Given the description of an element on the screen output the (x, y) to click on. 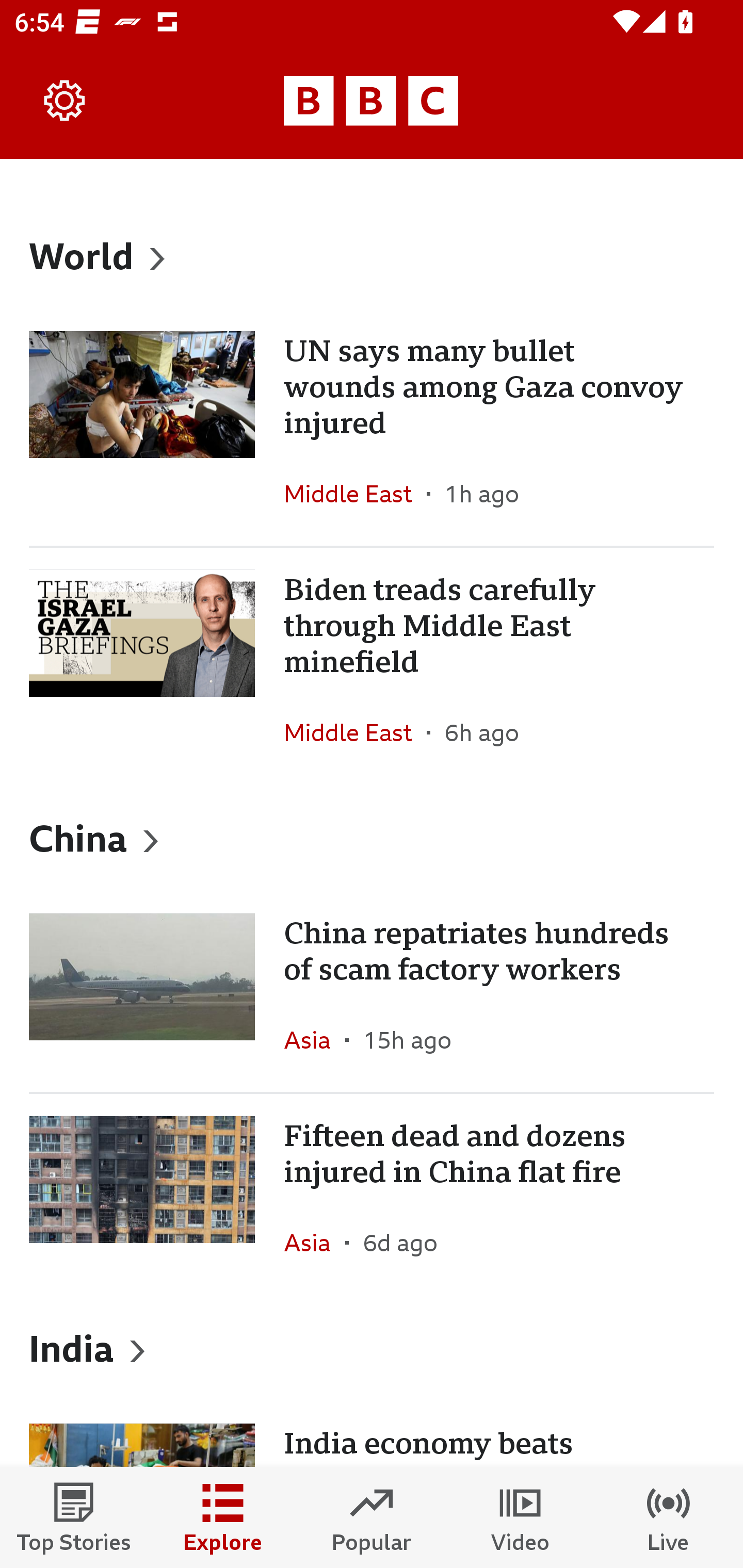
Settings (64, 100)
World, Heading World    (371, 255)
Middle East In the section Middle East (354, 493)
Middle East In the section Middle East (354, 732)
China, Heading China    (371, 837)
Asia In the section Asia (314, 1039)
Asia In the section Asia (314, 1242)
India, Heading India    (371, 1348)
Top Stories (74, 1517)
Popular (371, 1517)
Video (519, 1517)
Live (668, 1517)
